Given the description of an element on the screen output the (x, y) to click on. 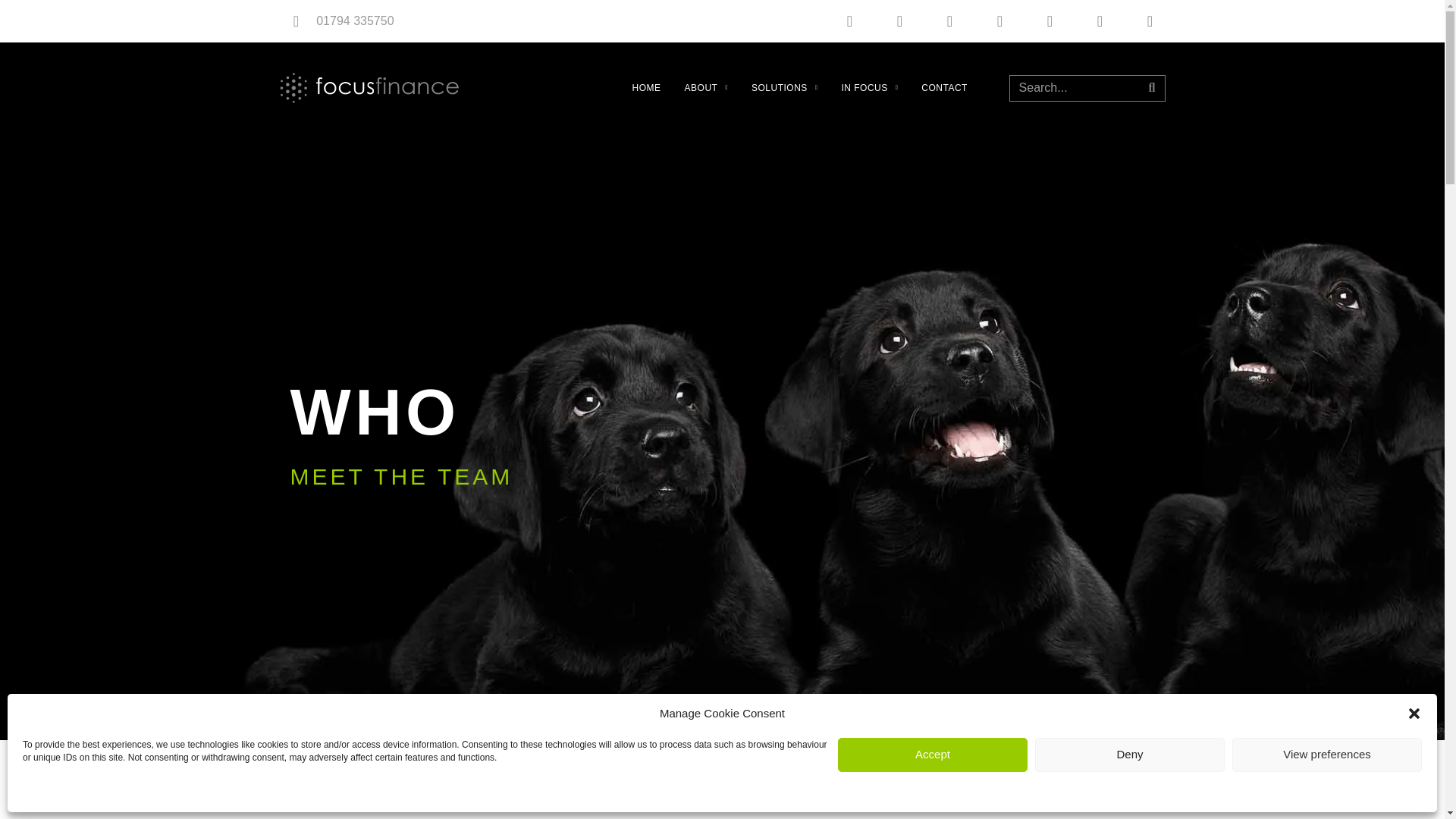
IN FOCUS (868, 87)
01794 335750 (354, 20)
CONTACT (944, 87)
SOLUTIONS (784, 87)
ABOUT (706, 87)
